Given the description of an element on the screen output the (x, y) to click on. 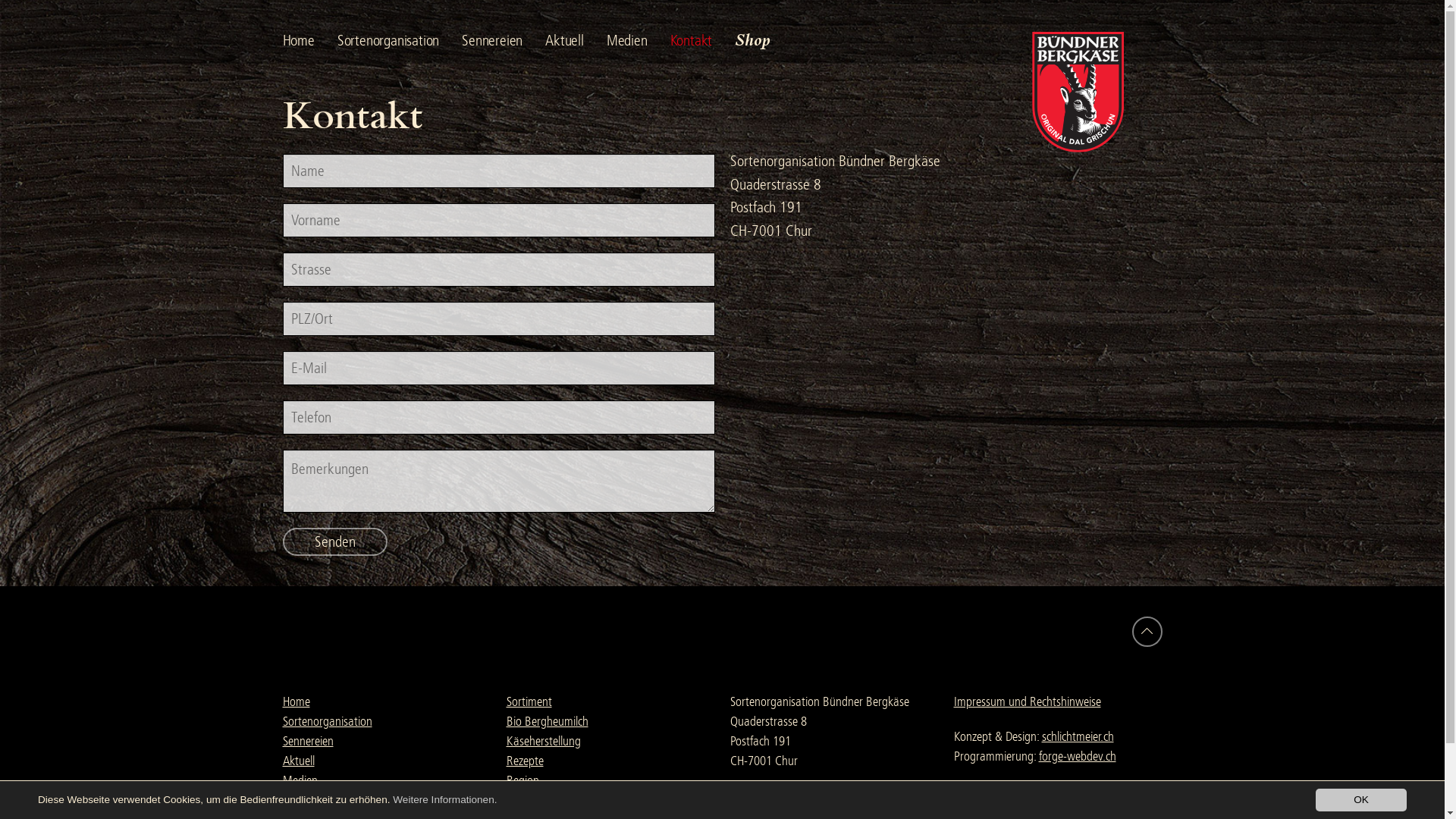
Sortiment Element type: text (529, 701)
forge-webdev.ch Element type: text (1077, 756)
Senden Element type: text (334, 541)
Bio Bergheumilch Element type: text (547, 721)
OK Element type: text (1360, 799)
Region Element type: text (522, 780)
Shop Element type: text (763, 39)
Sennereien Element type: text (307, 741)
Kontakt Element type: text (702, 40)
Impressum und Rechtshinweise Element type: text (1027, 701)
Home Element type: text (309, 40)
Aktuell Element type: text (575, 40)
Aktuell Element type: text (297, 760)
Rezepte Element type: text (524, 760)
Medien Element type: text (299, 780)
Kontakt Element type: text (300, 800)
Sortenorganisation Element type: text (326, 721)
Medien Element type: text (638, 40)
schlichtmeier.ch Element type: text (1077, 736)
Home Element type: text (295, 701)
Weitere Informationen. Element type: text (444, 799)
081 258 36 14 Element type: text (764, 800)
Sennereien Element type: text (503, 40)
Sortenorganisation Element type: text (399, 40)
